Given the description of an element on the screen output the (x, y) to click on. 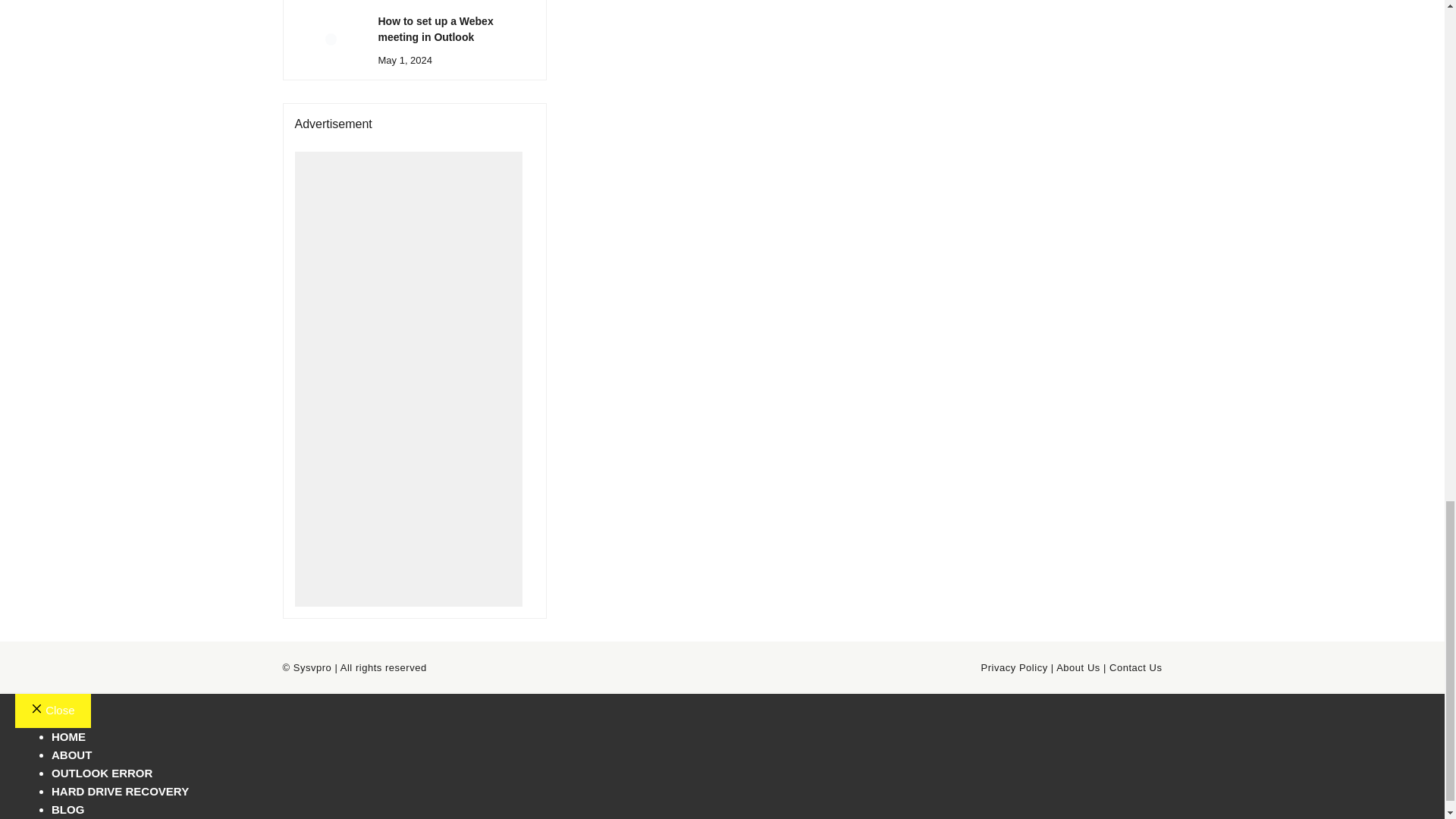
Close (52, 710)
How to set up a Webex meeting in Outlook (435, 29)
HOME (67, 736)
About Us (1078, 667)
OUTLOOK ERROR (101, 772)
HARD DRIVE RECOVERY (119, 790)
Contact Us (1135, 667)
BLOG (67, 809)
ABOUT (70, 754)
Privacy Policy (1014, 667)
